Given the description of an element on the screen output the (x, y) to click on. 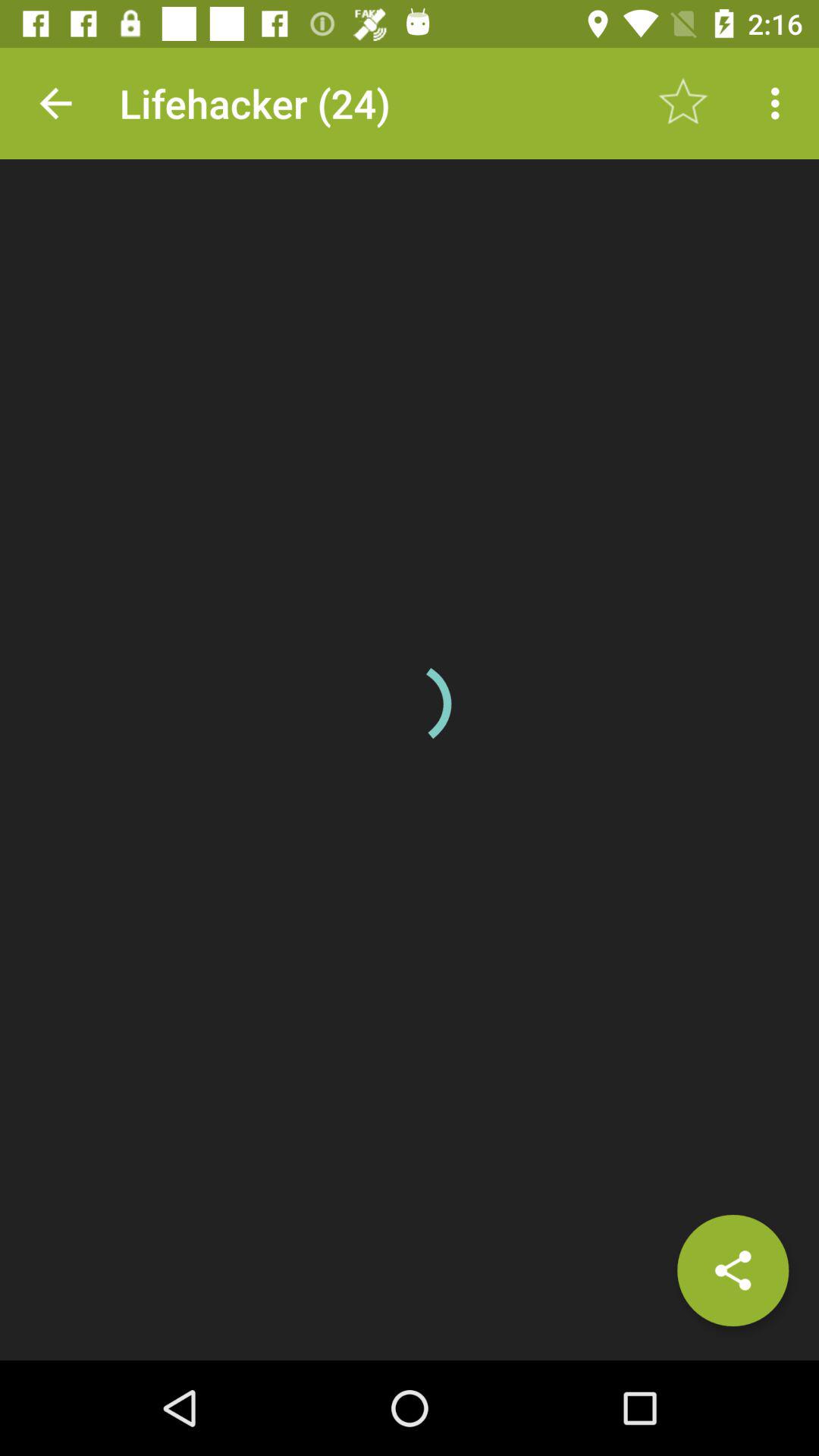
select icon to the right of the lifehacker (24) item (683, 103)
